Given the description of an element on the screen output the (x, y) to click on. 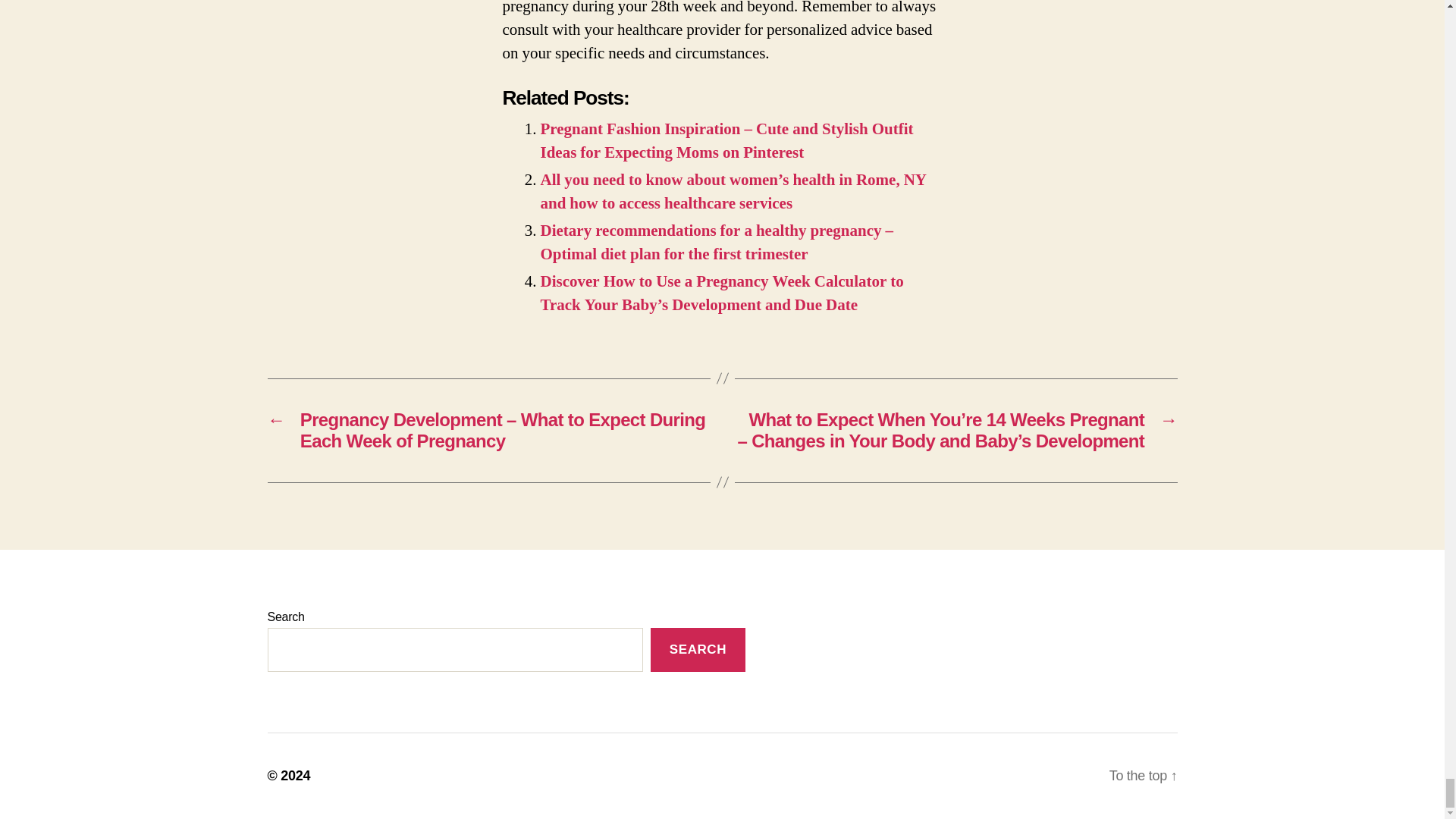
SEARCH (697, 650)
